Given the description of an element on the screen output the (x, y) to click on. 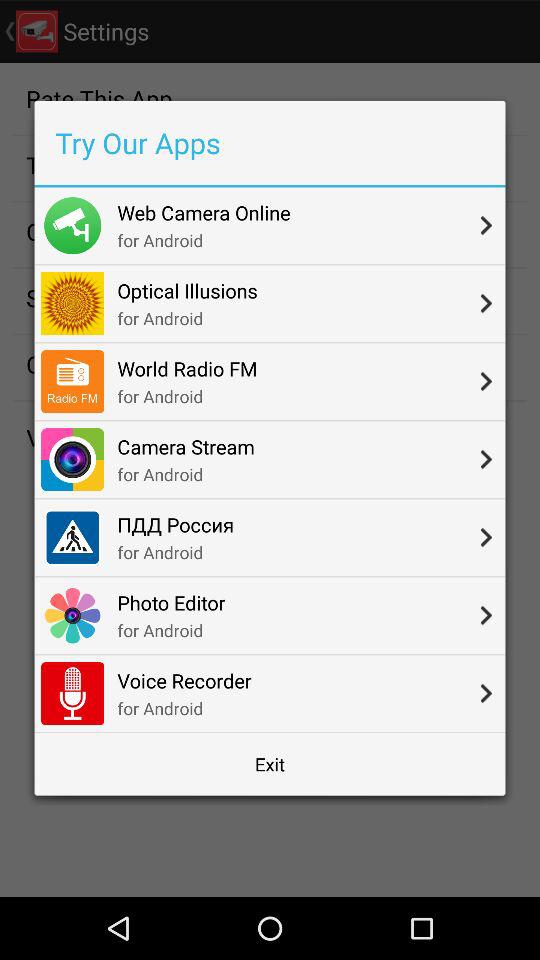
jump to the exit (269, 763)
